Given the description of an element on the screen output the (x, y) to click on. 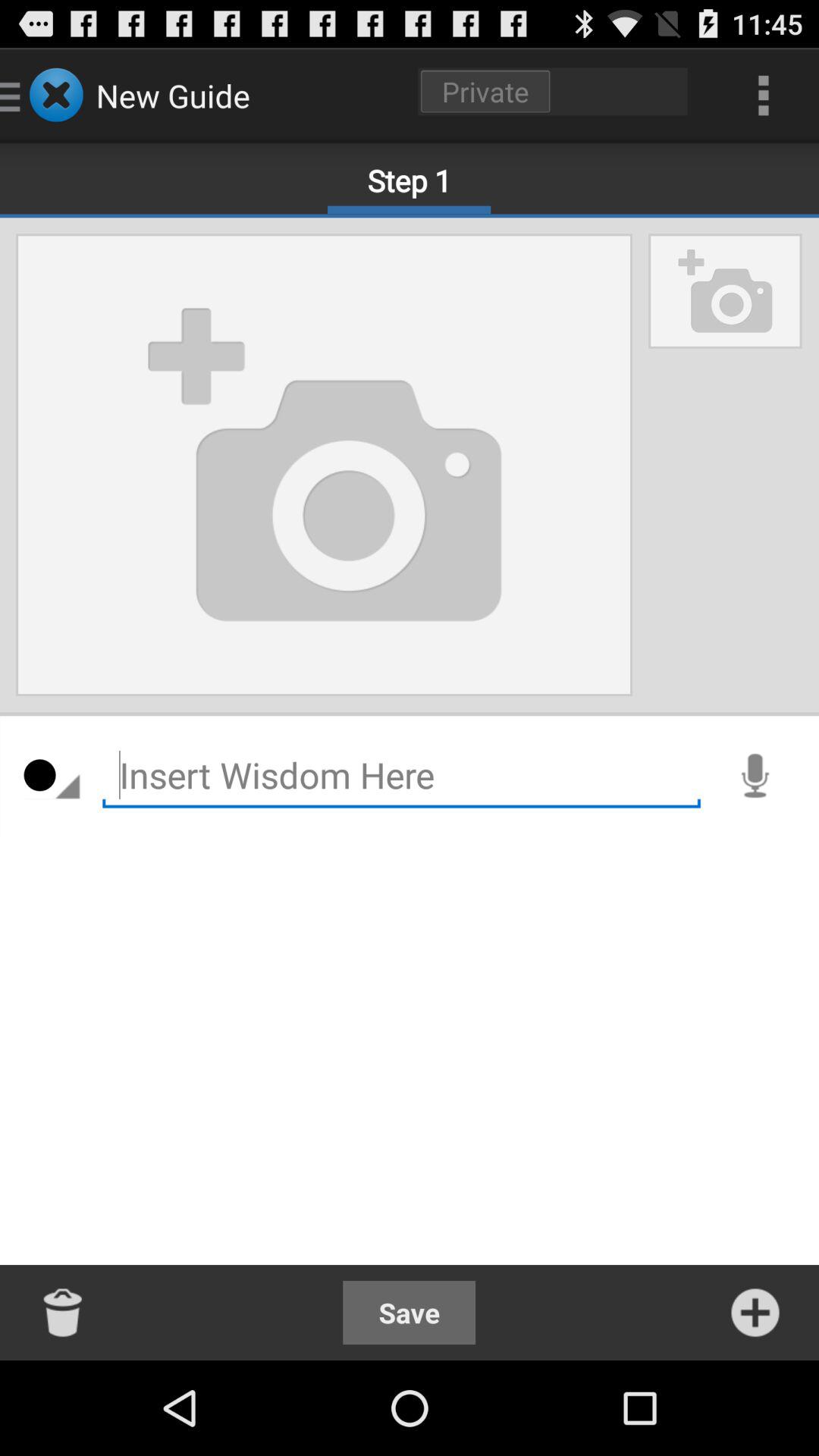
swipe until save item (408, 1312)
